Given the description of an element on the screen output the (x, y) to click on. 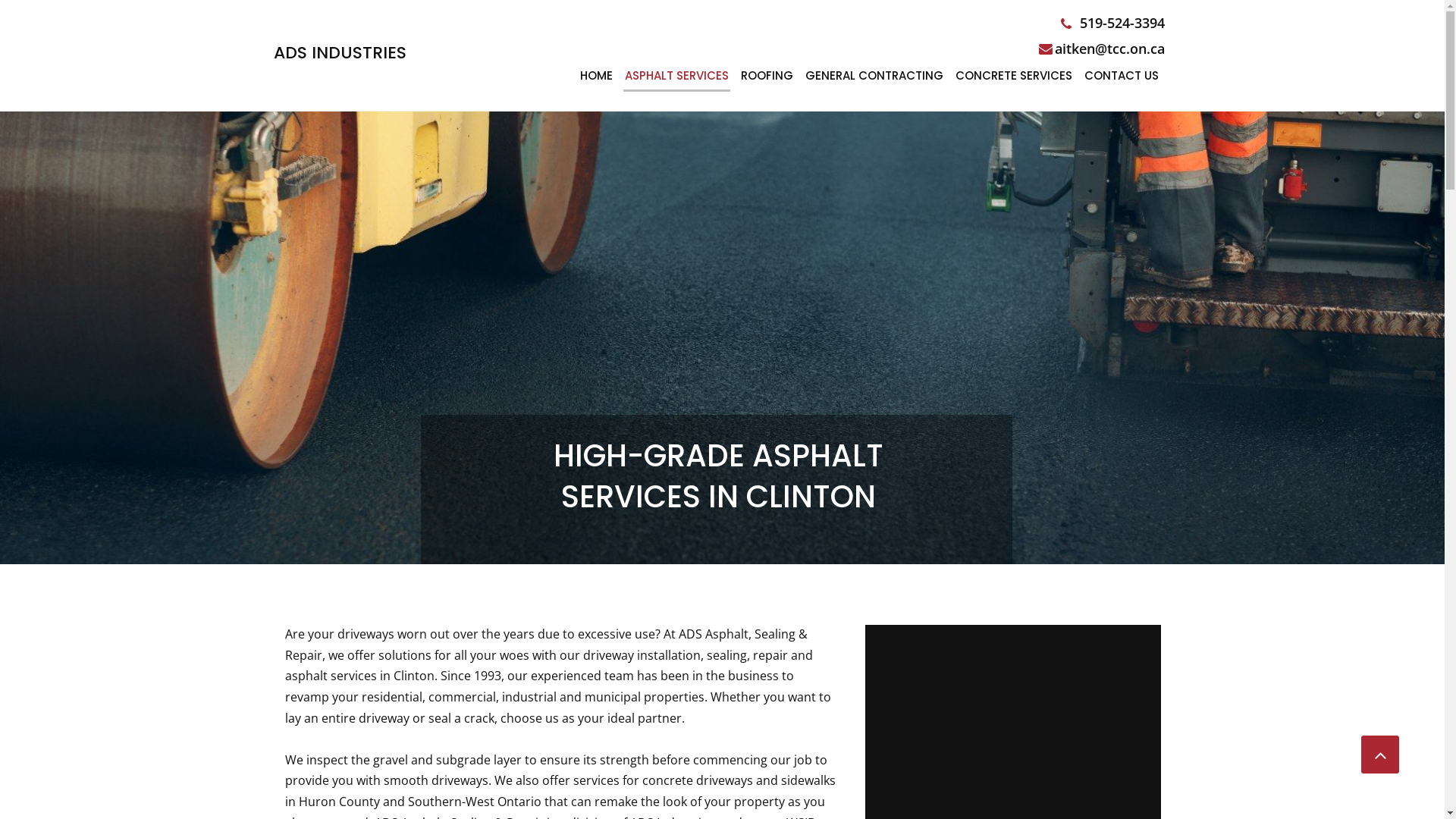
HOME Element type: text (596, 76)
ROOFING Element type: text (766, 76)
ASPHALT SERVICES Element type: text (676, 76)
CONTACT US Element type: text (1121, 76)
ADS INDUSTRIES Element type: text (339, 52)
CONCRETE SERVICES Element type: text (1013, 76)
GENERAL CONTRACTING Element type: text (873, 76)
aitken@tcc.on.ca Element type: text (1107, 48)
519-524-3394 Element type: text (1119, 22)
